Given the description of an element on the screen output the (x, y) to click on. 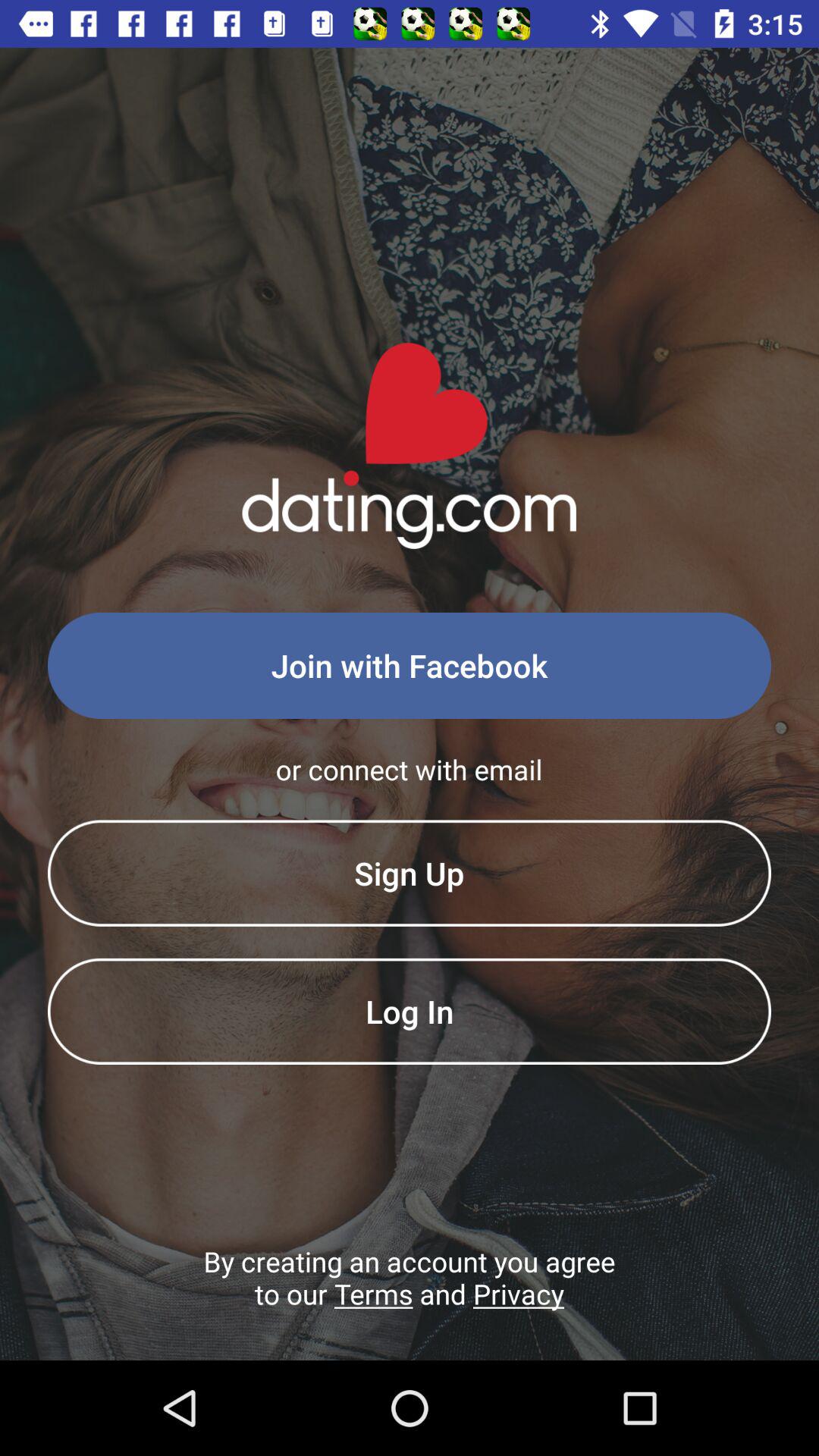
turn on the icon below the or connect with (409, 873)
